Given the description of an element on the screen output the (x, y) to click on. 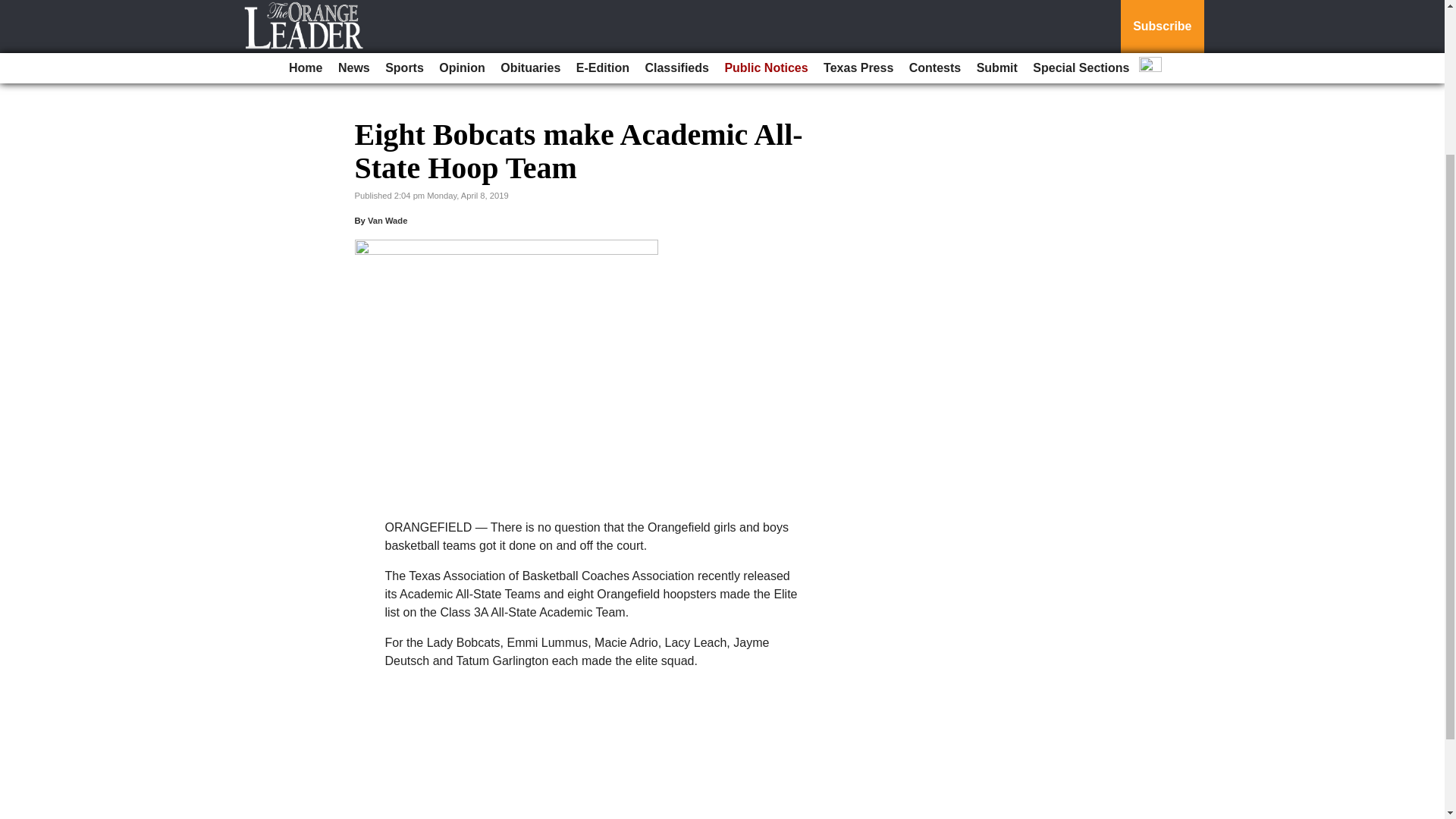
Van Wade (387, 220)
